Given the description of an element on the screen output the (x, y) to click on. 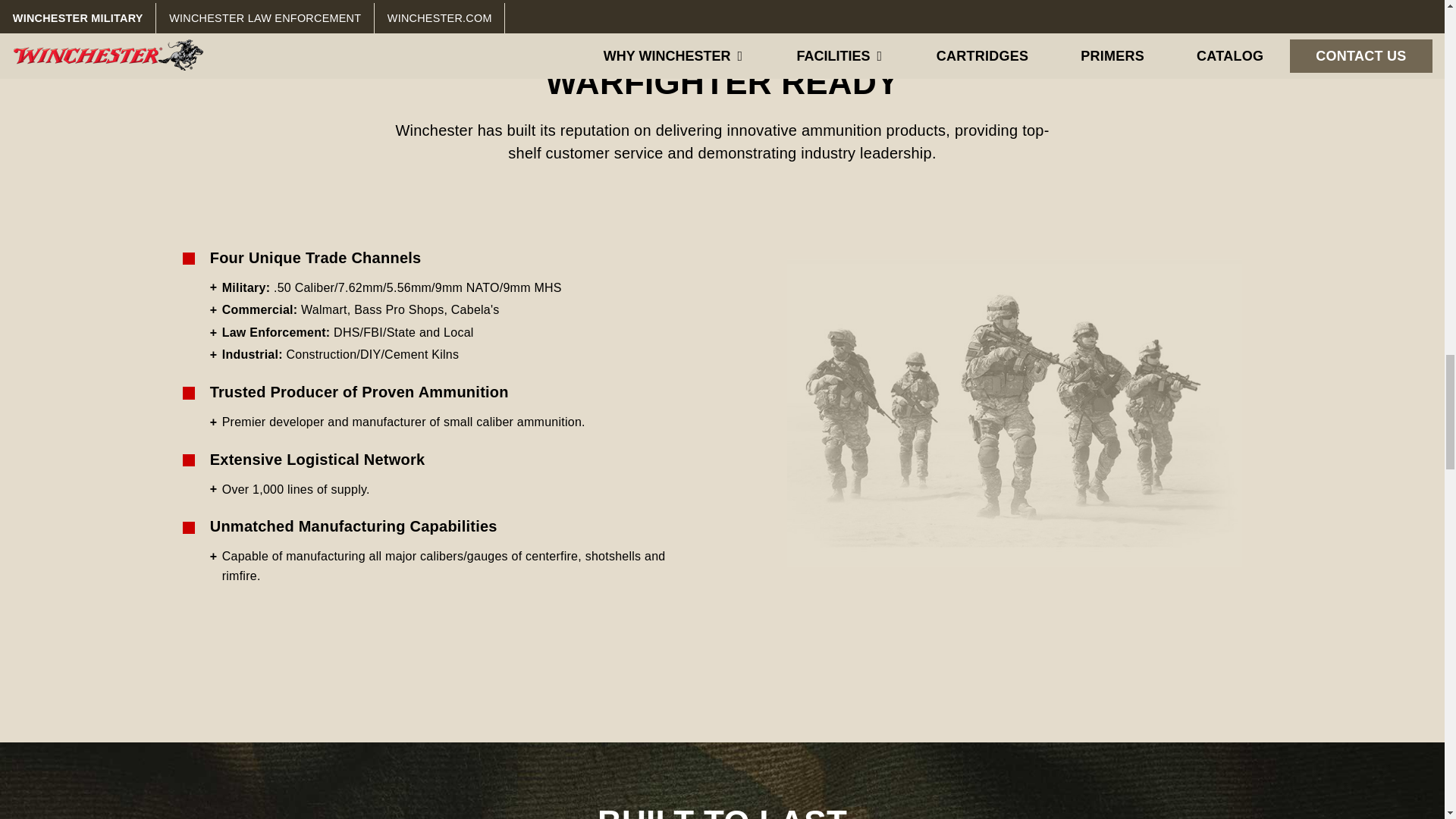
WARFIGHTER READY (722, 81)
